Given the description of an element on the screen output the (x, y) to click on. 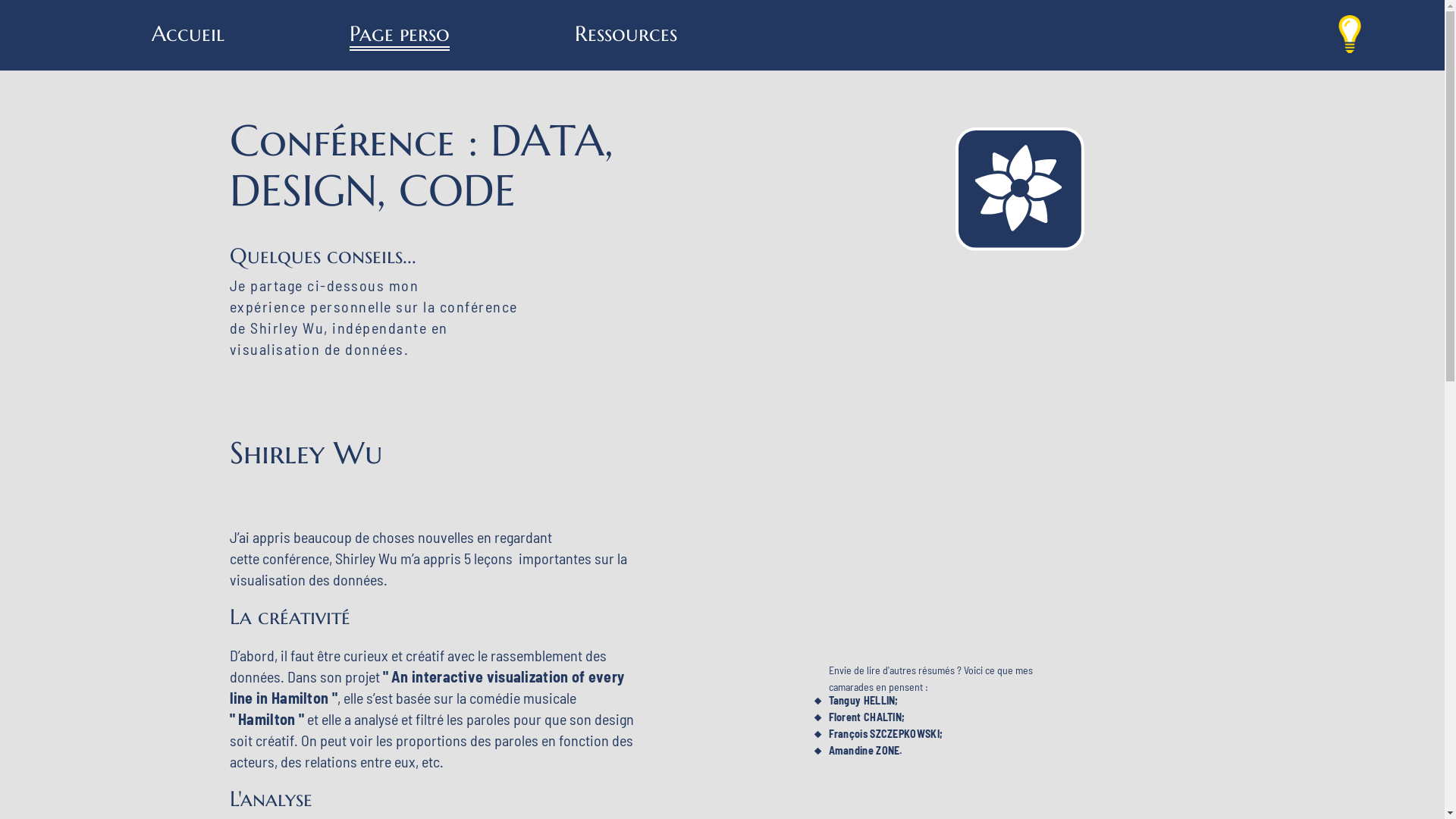
" Hamilton " Element type: text (266, 718)
Accueil Element type: text (187, 35)
Page perso Element type: text (399, 35)
Tanguy HELLIN; Element type: text (862, 699)
Amandine ZONE. Element type: text (864, 749)
Florent CHALTIN; Element type: text (866, 716)
Ressources Element type: text (625, 35)
" An interactive visualization of every line in Hamilton " Element type: text (426, 686)
